Given the description of an element on the screen output the (x, y) to click on. 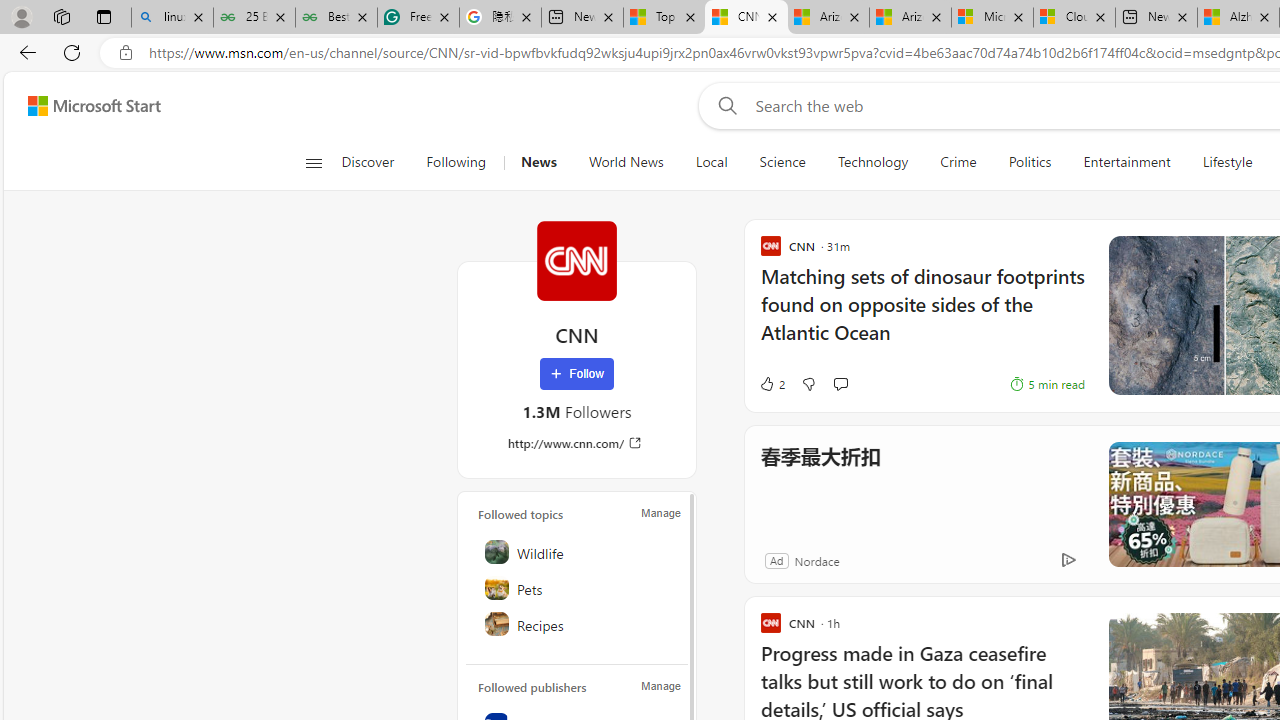
linux basic - Search (171, 17)
Free AI Writing Assistance for Students | Grammarly (418, 17)
Best SSL Certificates Provider in India - GeeksforGeeks (336, 17)
2 Like (771, 384)
